Given the description of an element on the screen output the (x, y) to click on. 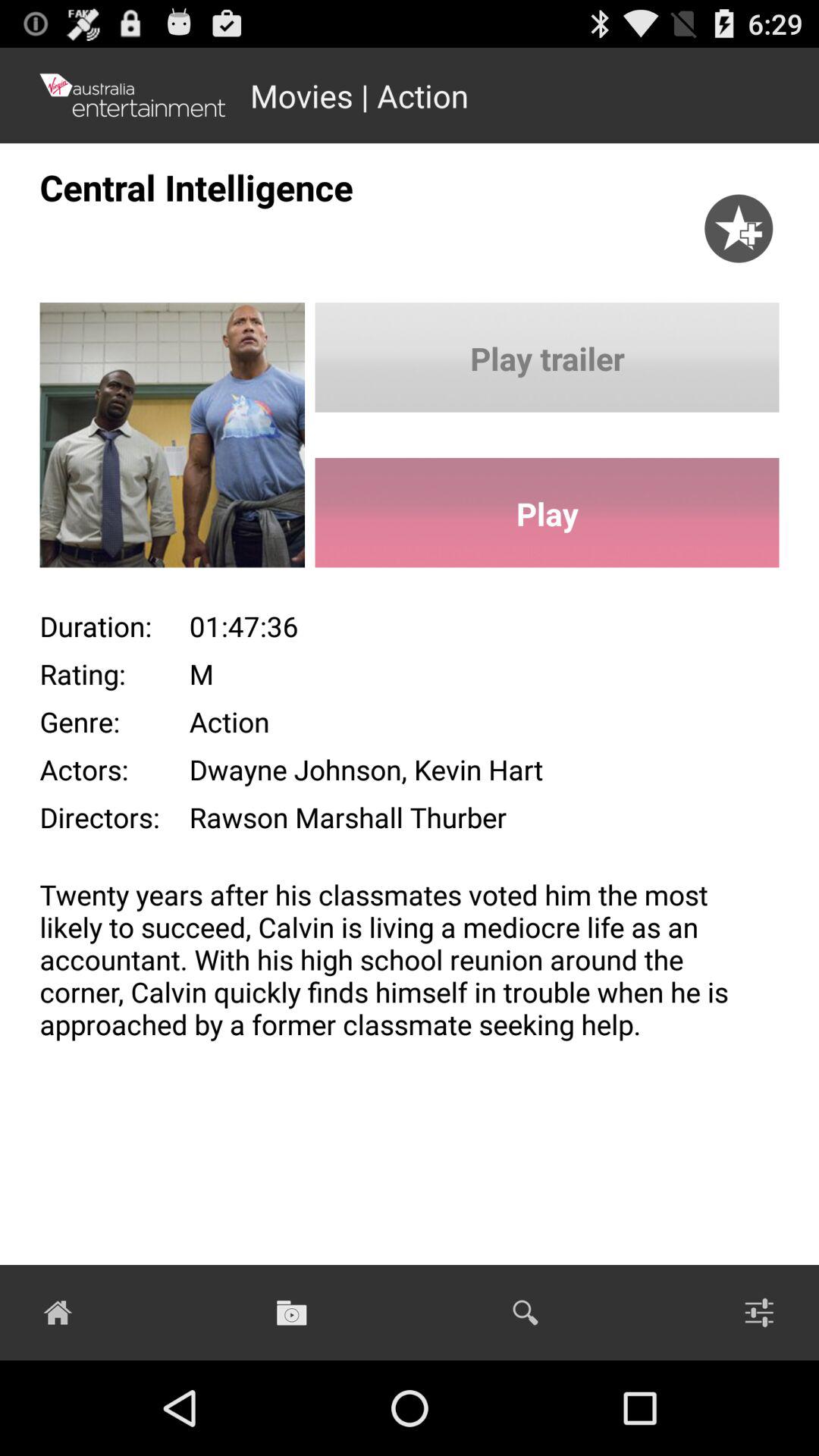
click the search button on the web page (525, 1312)
select the image below central intelligence (152, 440)
click on the icon above the button play trailer (738, 213)
select the logo on the top left corner of the web page (133, 94)
click on star logo (745, 225)
